Given the description of an element on the screen output the (x, y) to click on. 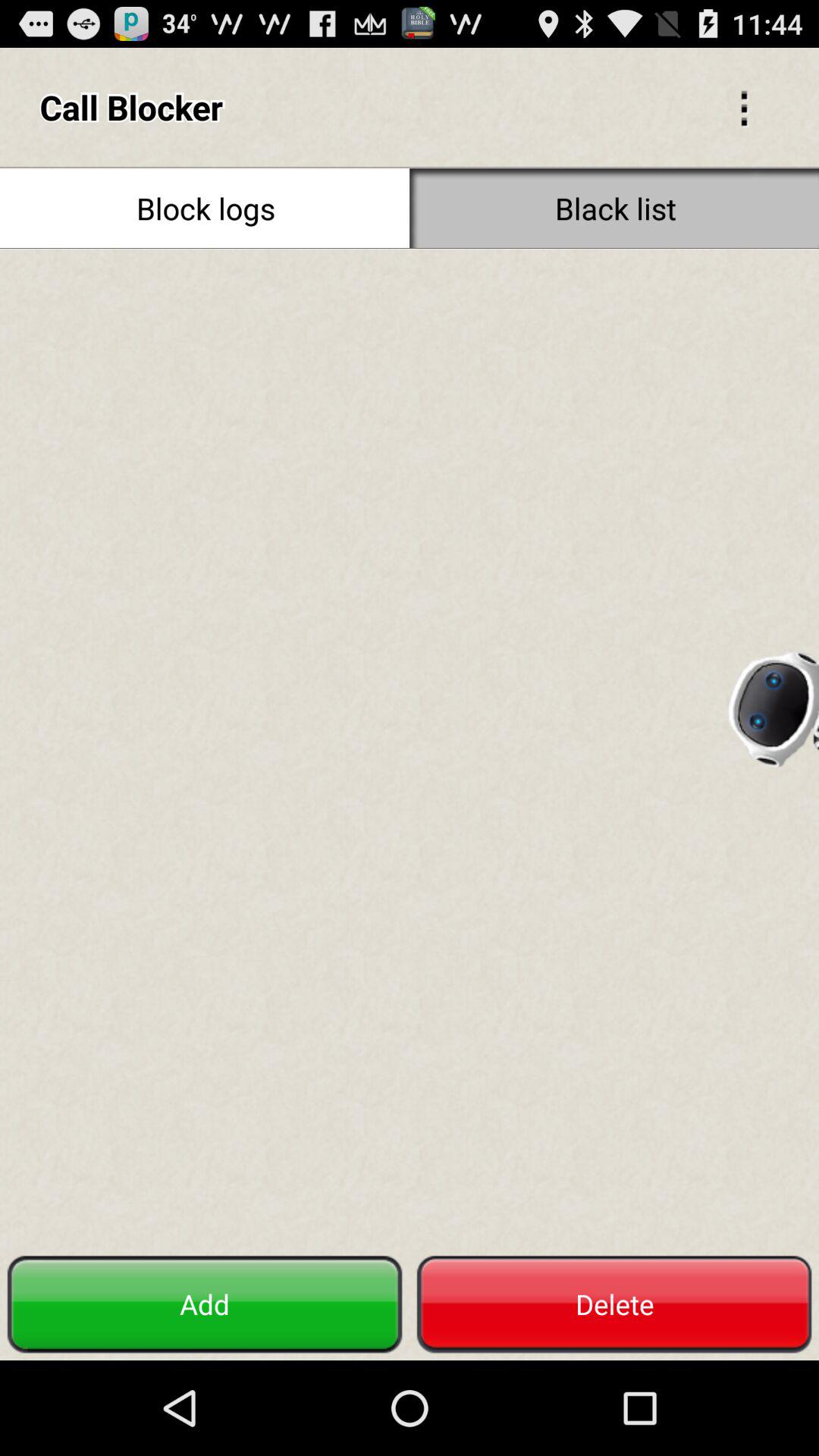
choose button to the left of the delete button (204, 1304)
